Given the description of an element on the screen output the (x, y) to click on. 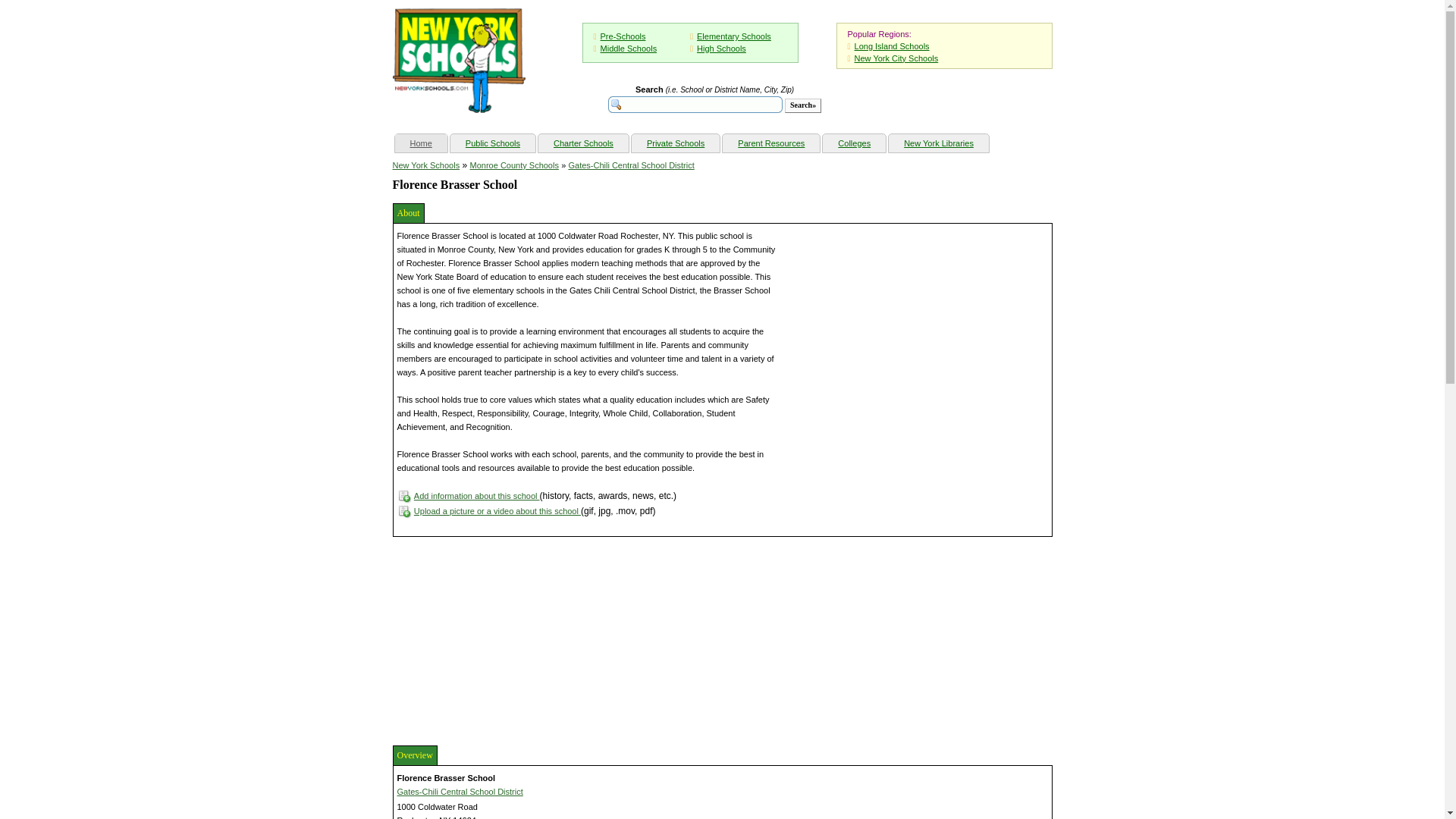
Monroe County Schools (514, 164)
Pre-Schools (622, 35)
Gates-Chili Central School District Schools (630, 164)
New York Schools (426, 164)
Private Schools (675, 143)
Elementary Schools (734, 35)
Public Schools (492, 143)
New York Libraries (938, 143)
High Schools (721, 48)
Parent Resources (770, 143)
